Given the description of an element on the screen output the (x, y) to click on. 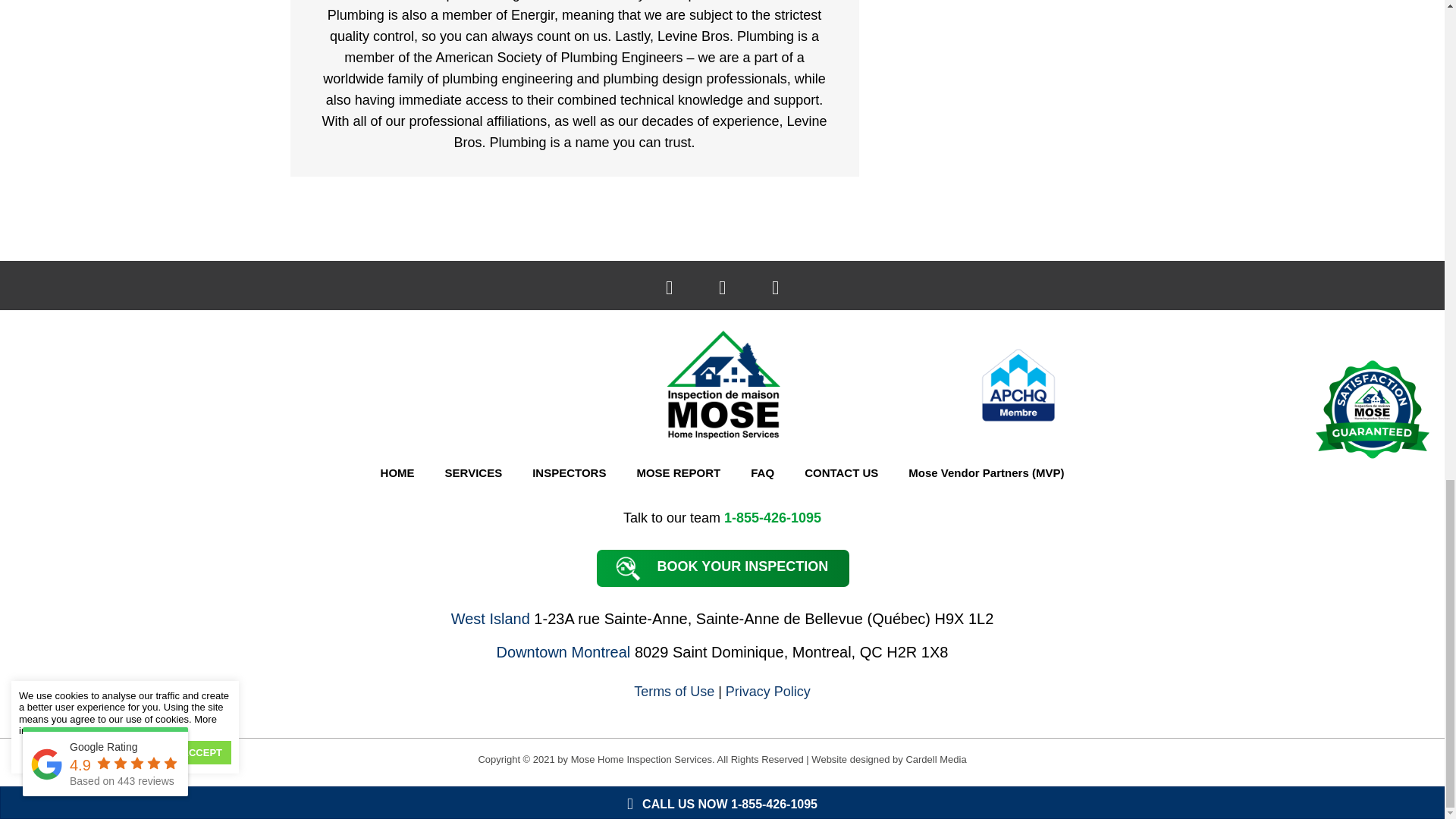
mose-home-inspection-logo-01 (722, 384)
apchq-logo-2024 (1018, 385)
icon-book-01 (626, 567)
